Given the description of an element on the screen output the (x, y) to click on. 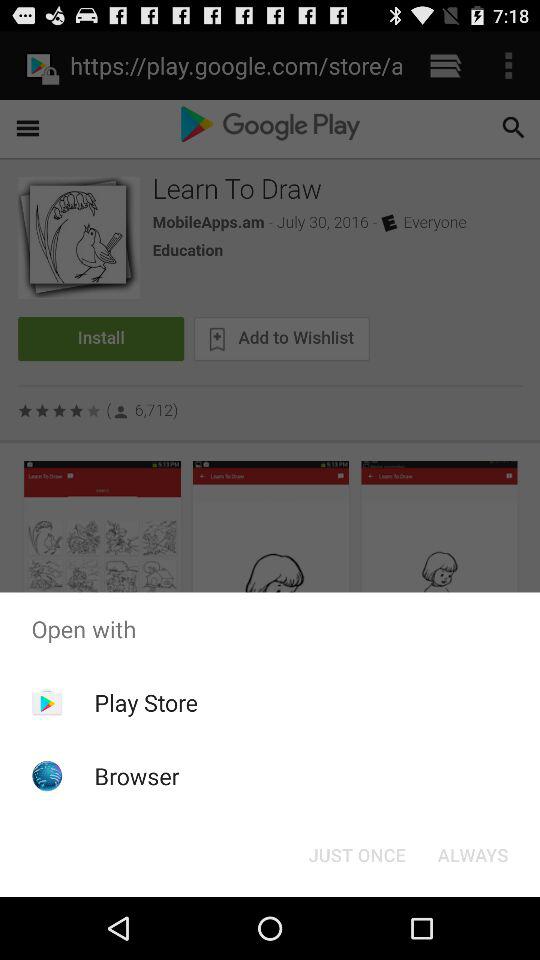
turn off button to the right of the just once button (472, 854)
